Given the description of an element on the screen output the (x, y) to click on. 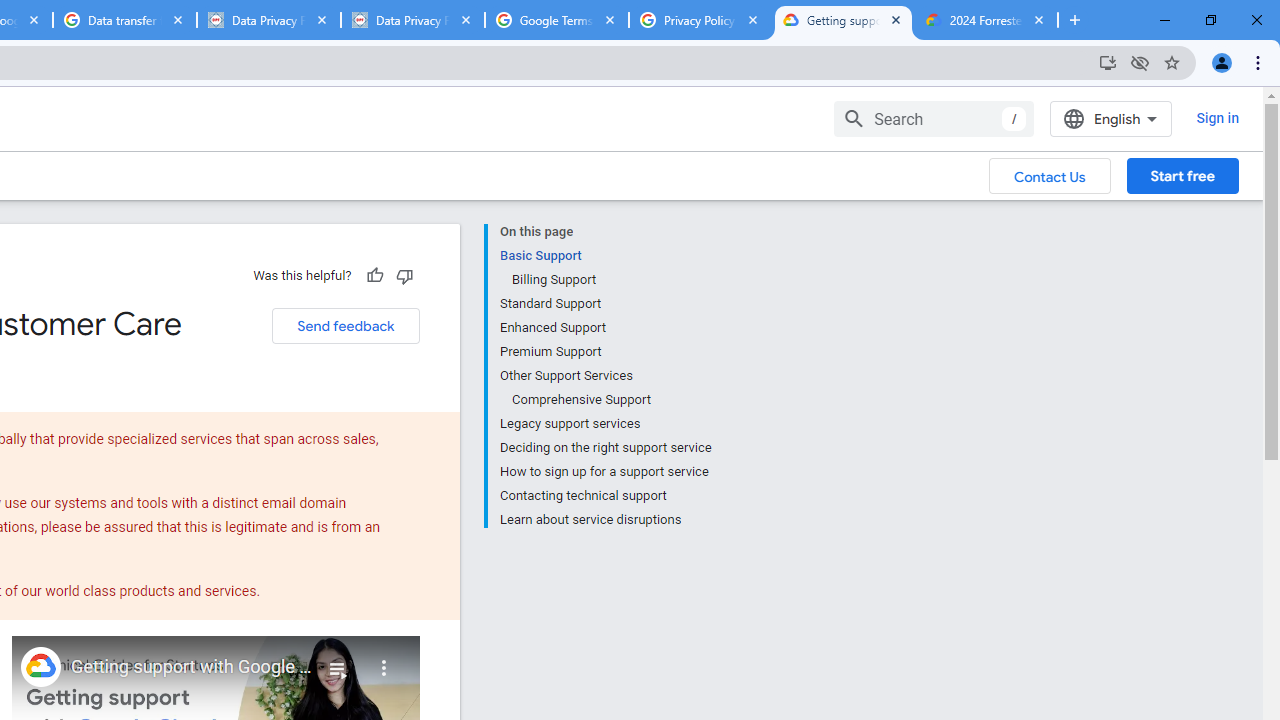
Photo image of Google Cloud Tech (40, 665)
Helpful (374, 275)
Standard Support (605, 304)
Getting support with Google Cloud Customer Care (191, 667)
More (384, 660)
Billing Support (610, 279)
Not helpful (404, 275)
Data Privacy Framework (412, 20)
